Given the description of an element on the screen output the (x, y) to click on. 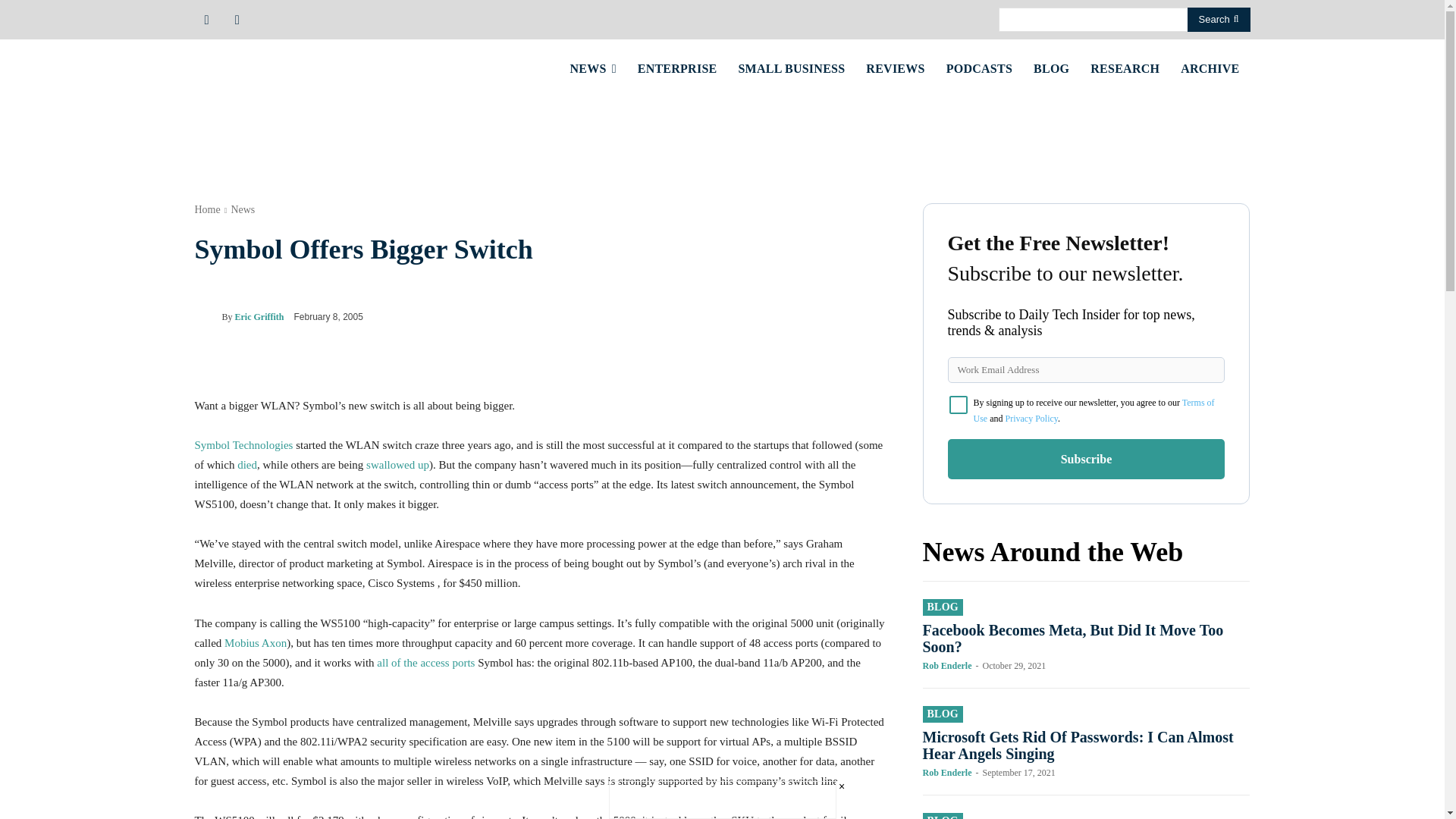
REVIEWS (895, 68)
Eric Griffith (207, 316)
Facebook (205, 18)
Search (1219, 19)
on (958, 404)
View all posts in News (242, 209)
NEWS (593, 68)
PODCASTS (979, 68)
SMALL BUSINESS (791, 68)
ENTERPRISE (677, 68)
